Given the description of an element on the screen output the (x, y) to click on. 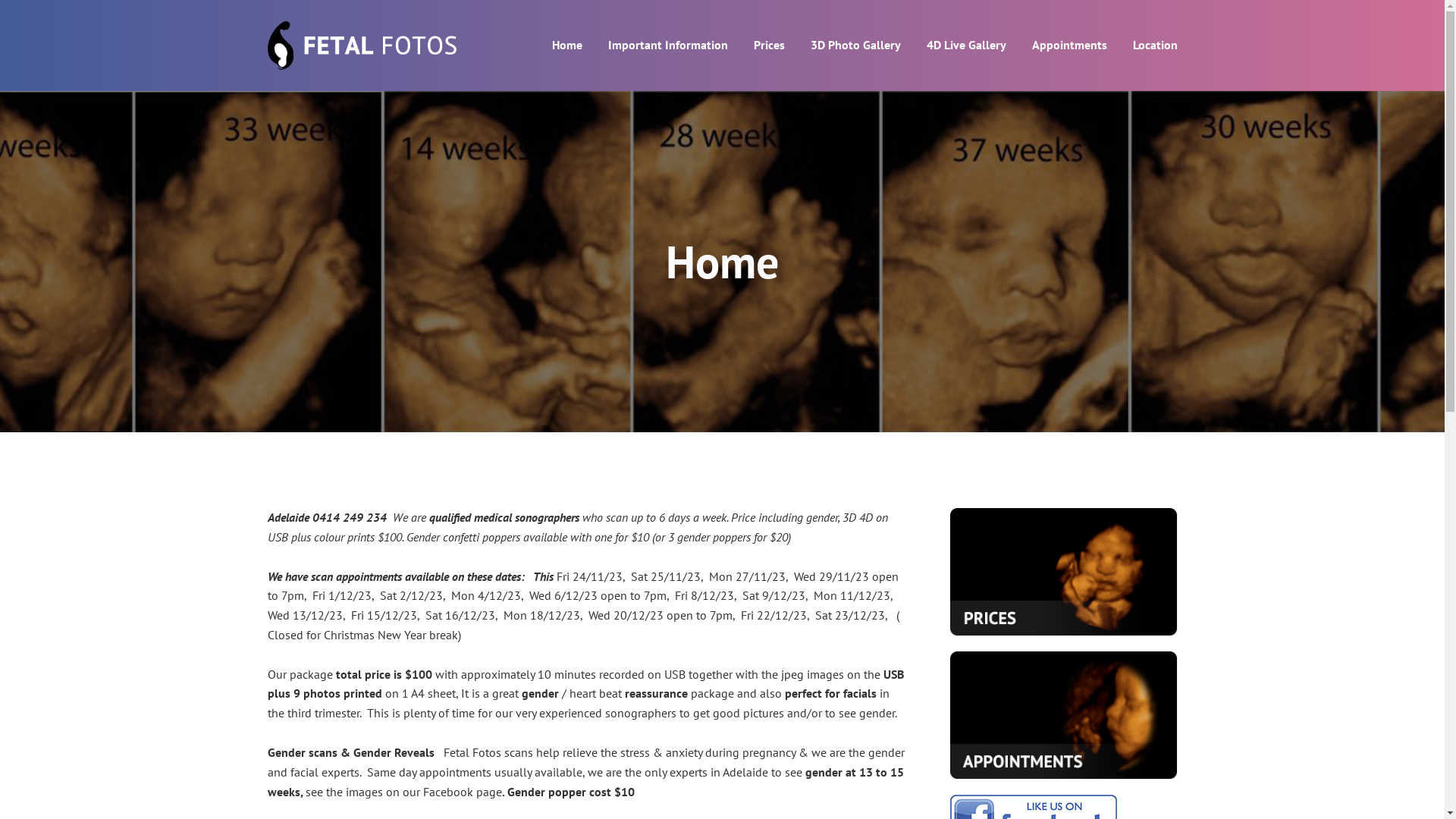
Home Element type: text (567, 44)
Location Element type: text (1154, 44)
Important Information Element type: text (668, 44)
3D Photo Gallery Element type: text (854, 44)
Prices Element type: text (768, 44)
4D Live Gallery Element type: text (966, 44)
Appointments Element type: text (1068, 44)
